Given the description of an element on the screen output the (x, y) to click on. 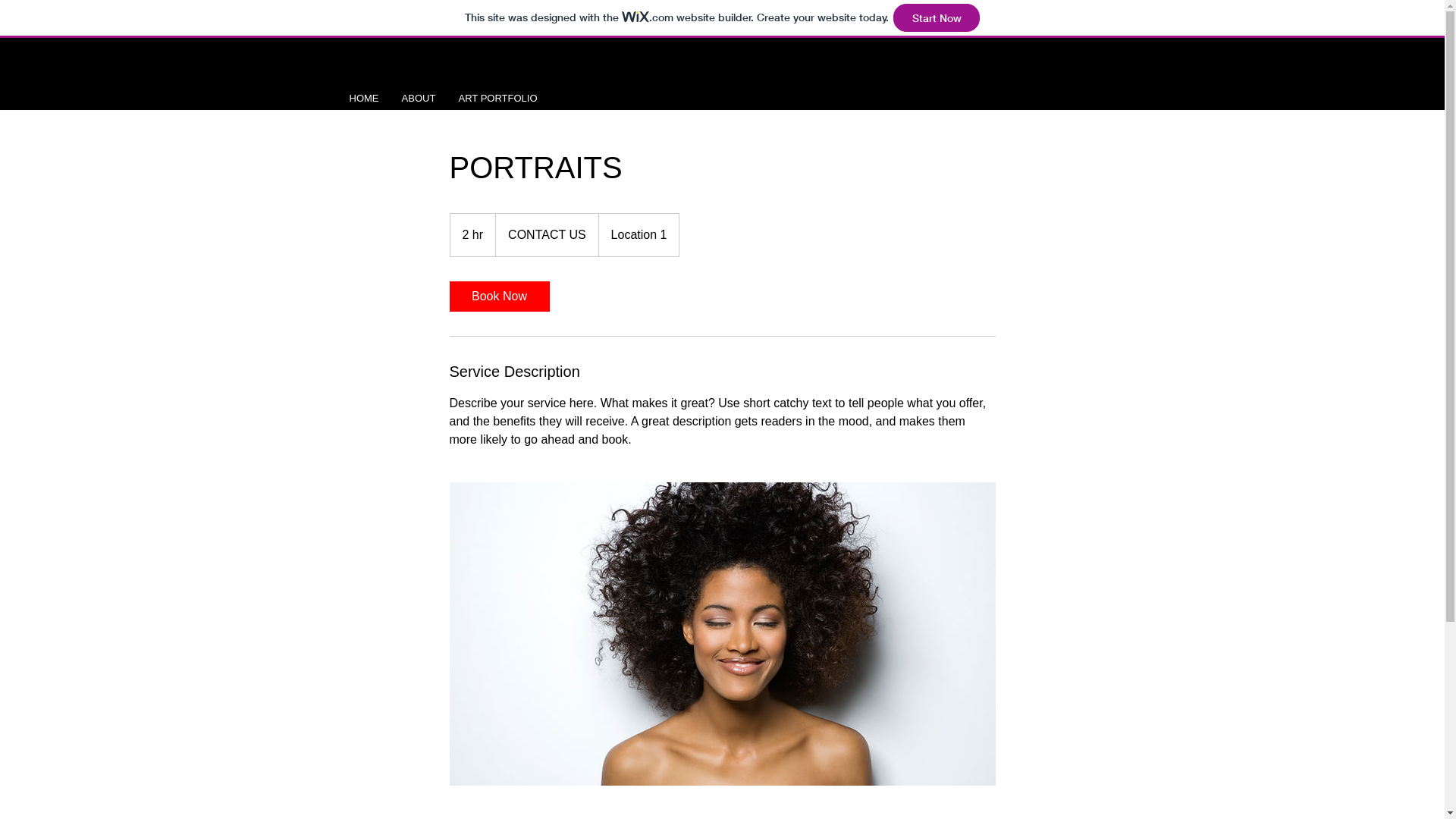
Book Now Element type: text (498, 296)
ABOUT Element type: text (417, 98)
ART PORTFOLIO Element type: text (498, 98)
HOME Element type: text (364, 98)
